Given the description of an element on the screen output the (x, y) to click on. 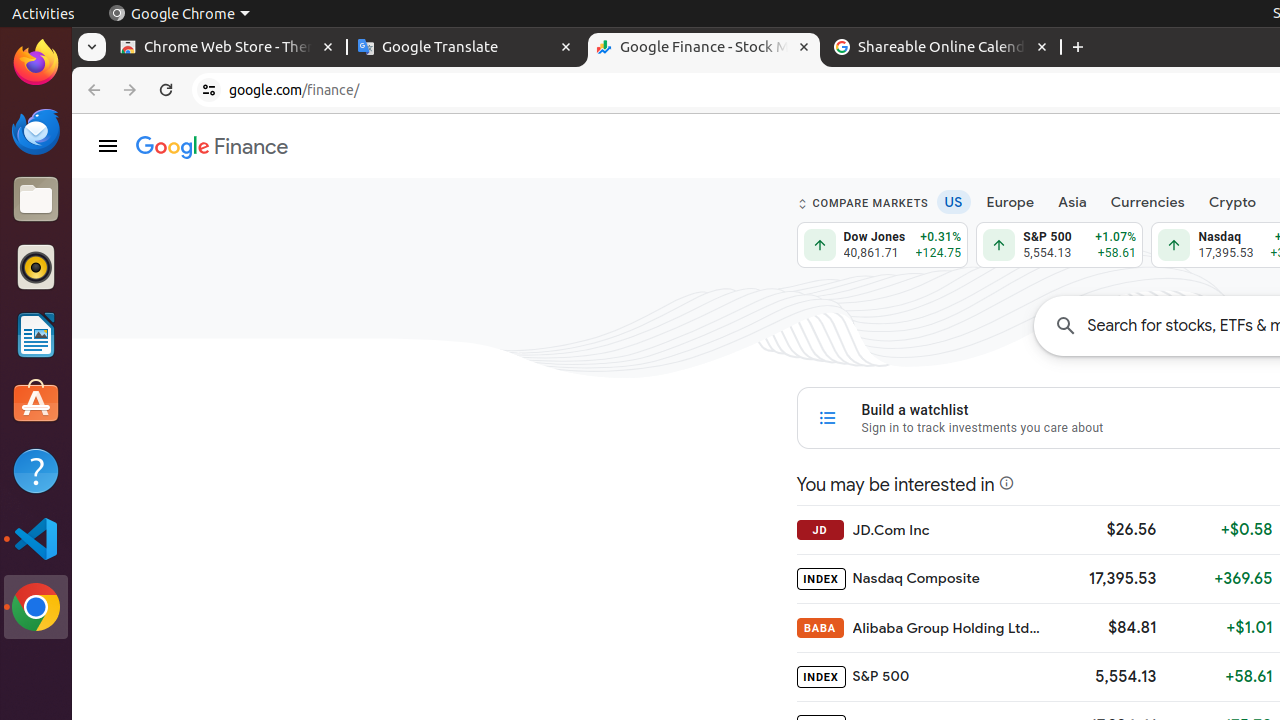
Asia Element type: page-tab (1072, 202)
Rhythmbox Element type: push-button (36, 267)
Google Finance - Stock Market Prices, Real-time Quotes & Business News Element type: page-tab (704, 47)
LibreOffice Writer Element type: push-button (36, 334)
View site information Element type: push-button (209, 90)
